Given the description of an element on the screen output the (x, y) to click on. 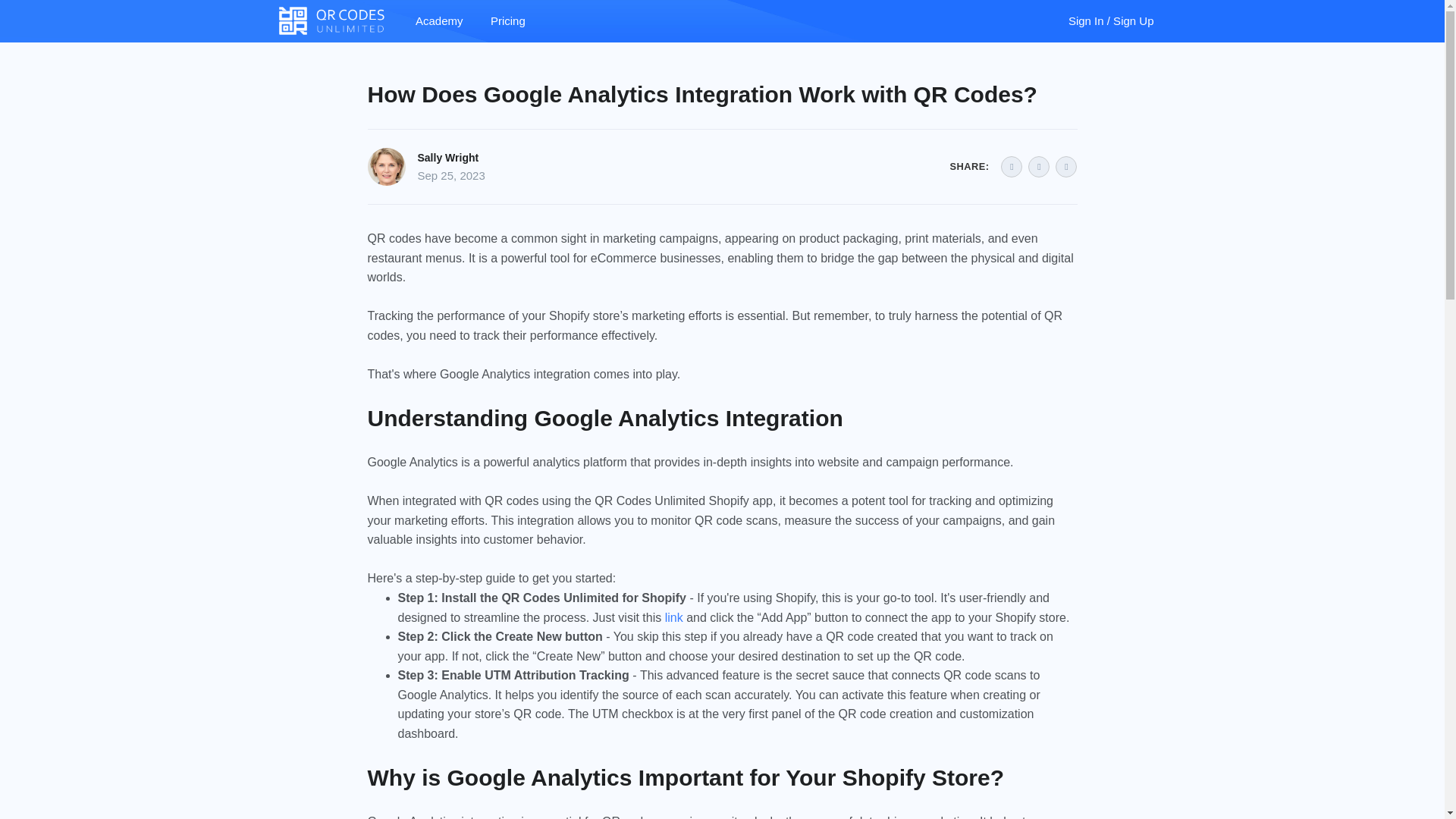
Sally Wright (447, 157)
Academy (439, 21)
Pricing (508, 21)
link (673, 617)
